Given the description of an element on the screen output the (x, y) to click on. 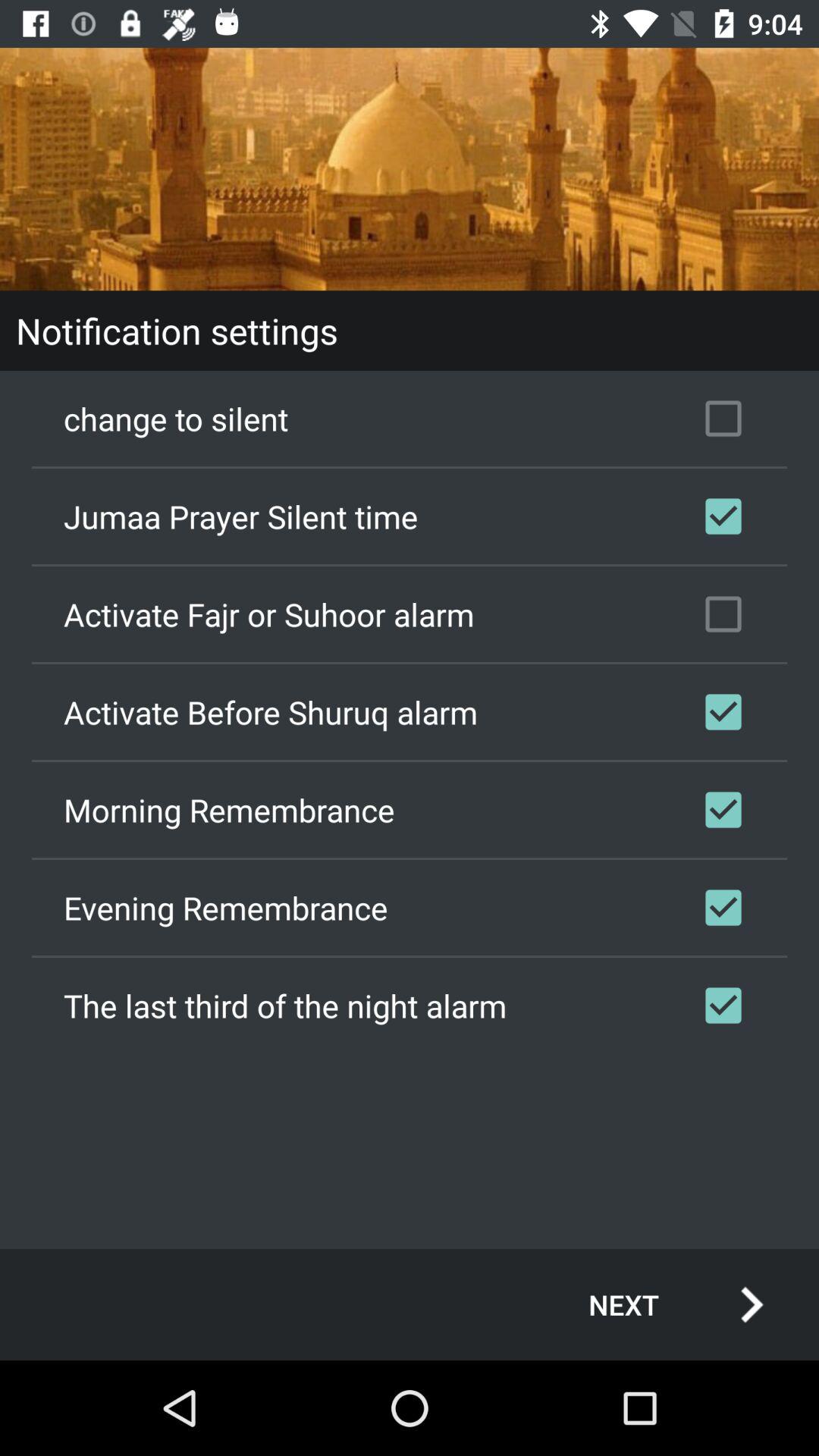
open icon below notification settings app (409, 418)
